Given the description of an element on the screen output the (x, y) to click on. 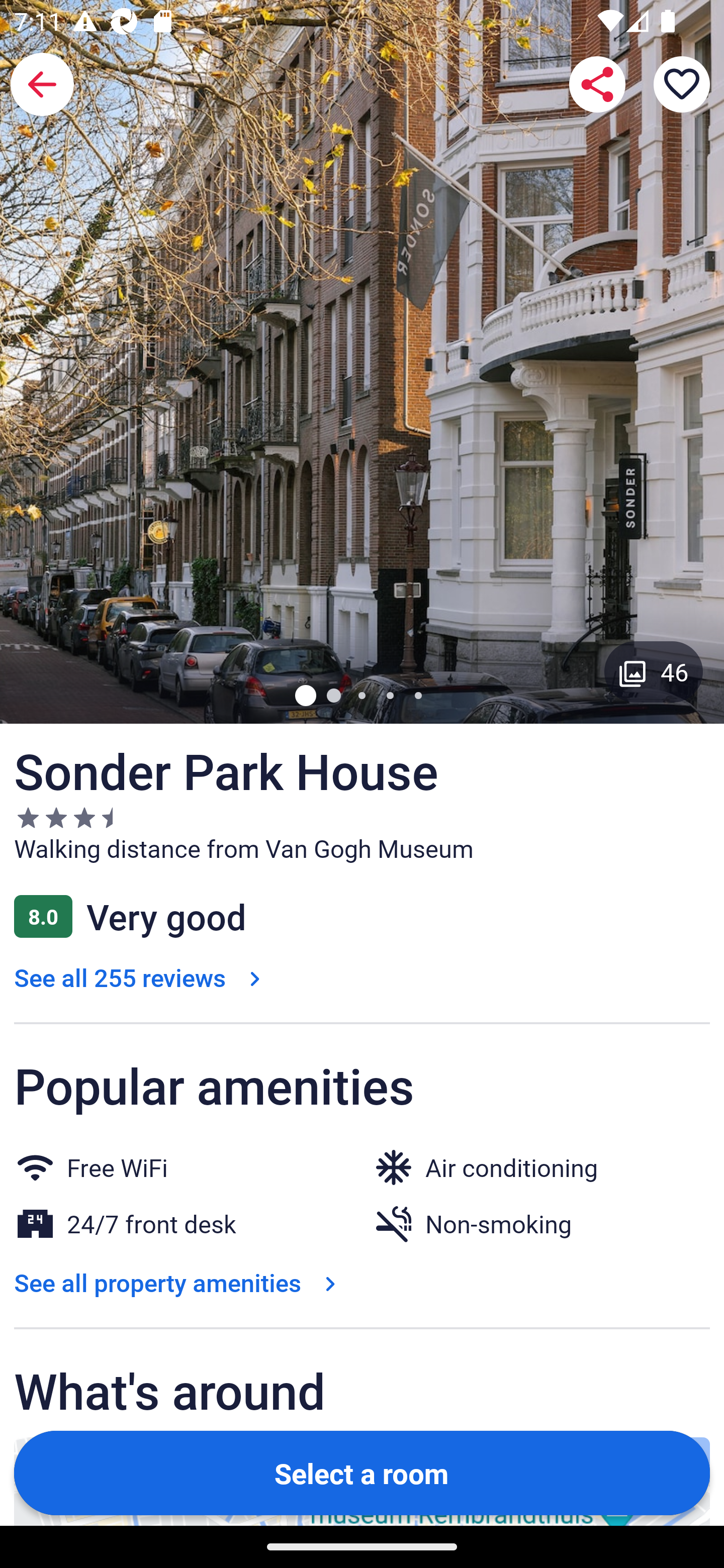
Back (42, 84)
Save property to a trip (681, 84)
Share Sonder Park House (597, 84)
Gallery button with 46 images (653, 671)
See all 255 reviews See all 255 reviews Link (140, 976)
See all property amenities (178, 1282)
Select a room Button Select a room (361, 1472)
